Given the description of an element on the screen output the (x, y) to click on. 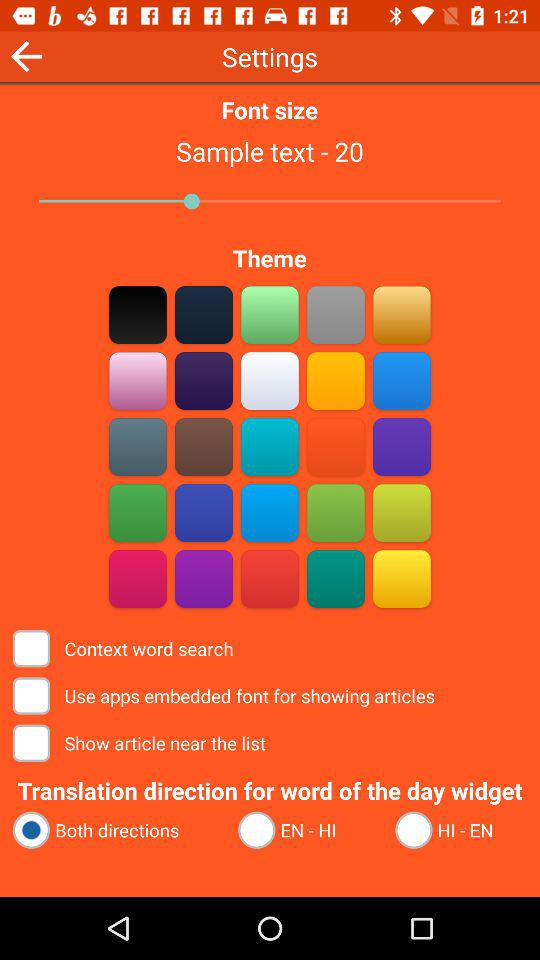
theme color (137, 314)
